Given the description of an element on the screen output the (x, y) to click on. 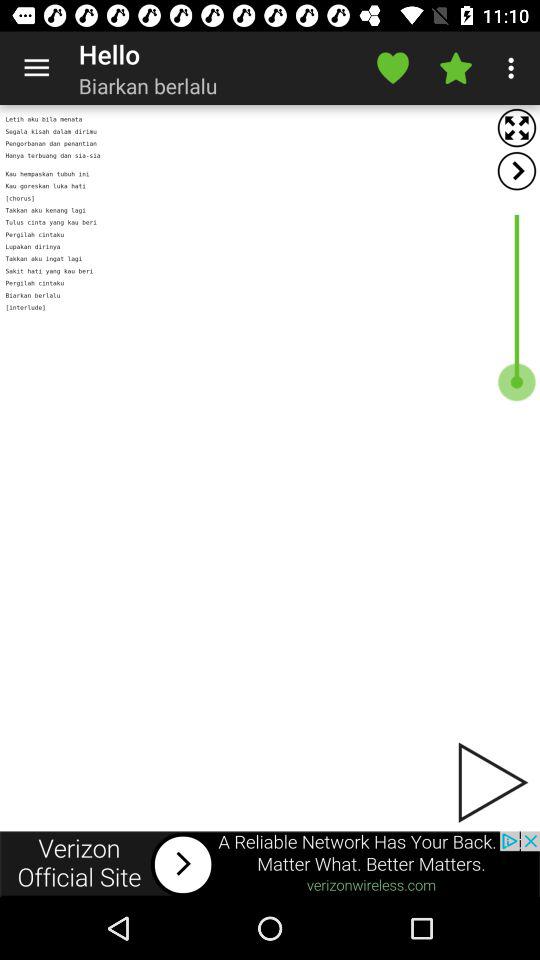
play (491, 782)
